Given the description of an element on the screen output the (x, y) to click on. 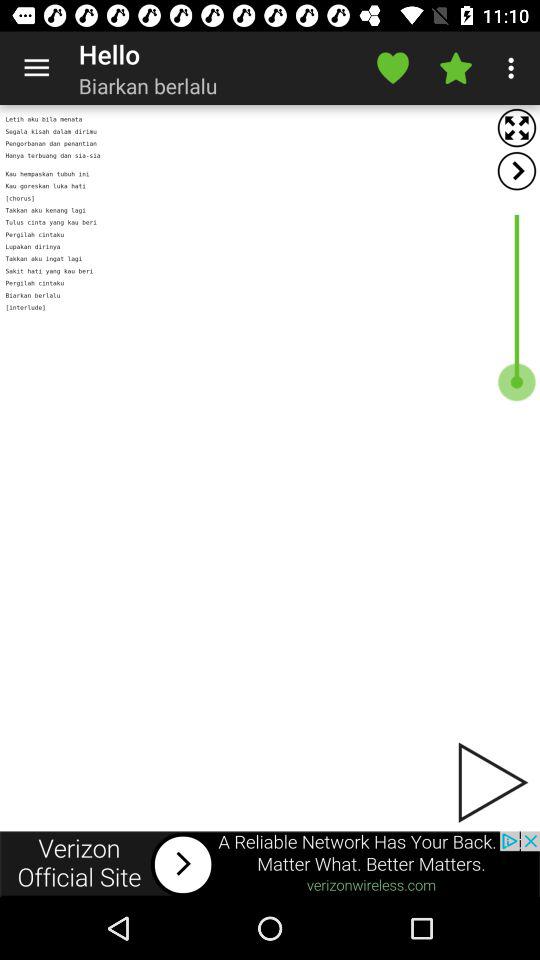
play (491, 782)
